Given the description of an element on the screen output the (x, y) to click on. 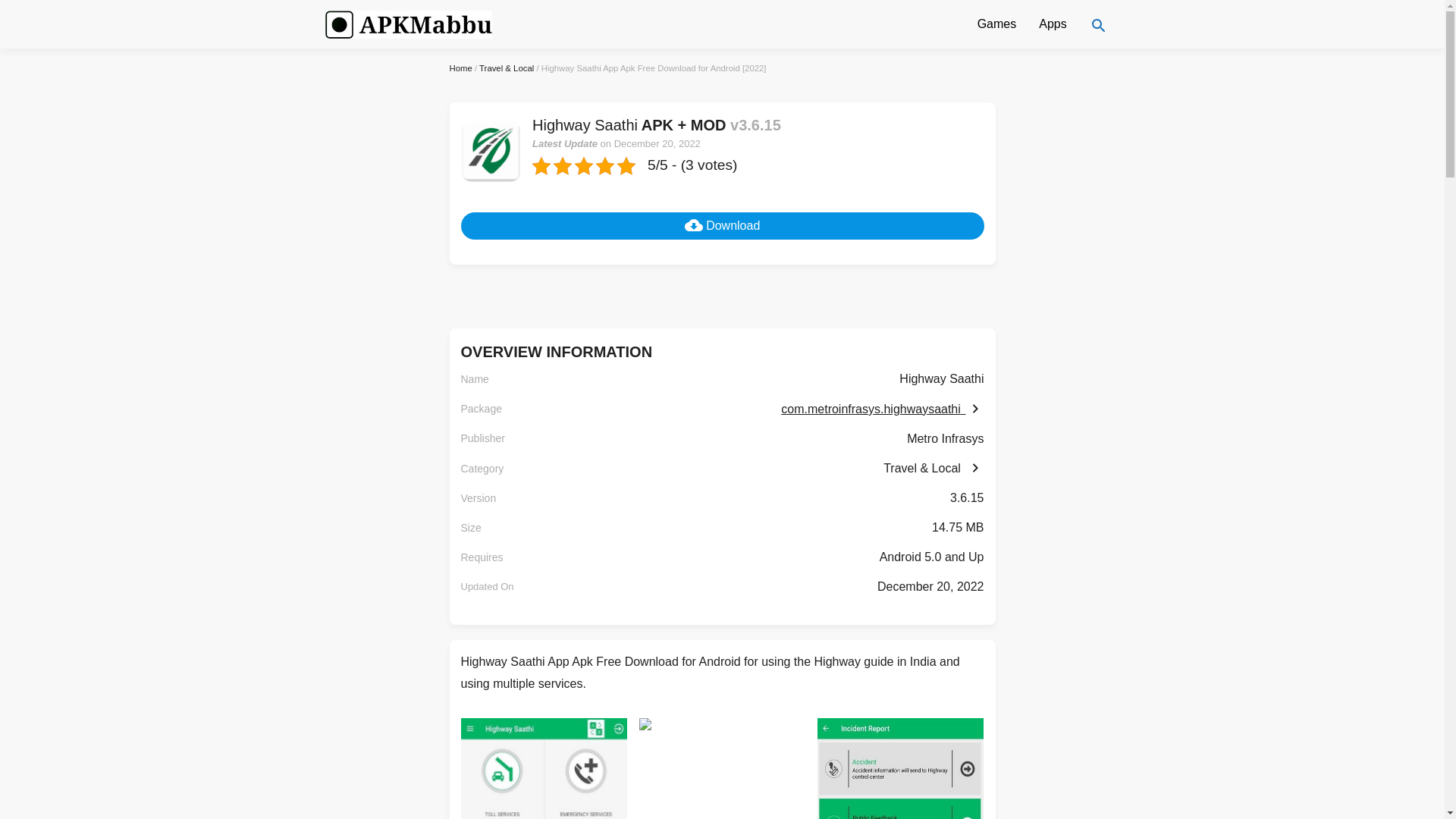
Games (996, 24)
Home (459, 67)
Download (722, 225)
Apps (1052, 24)
com.metroinfrasys.highwaysaathi (882, 408)
